Given the description of an element on the screen output the (x, y) to click on. 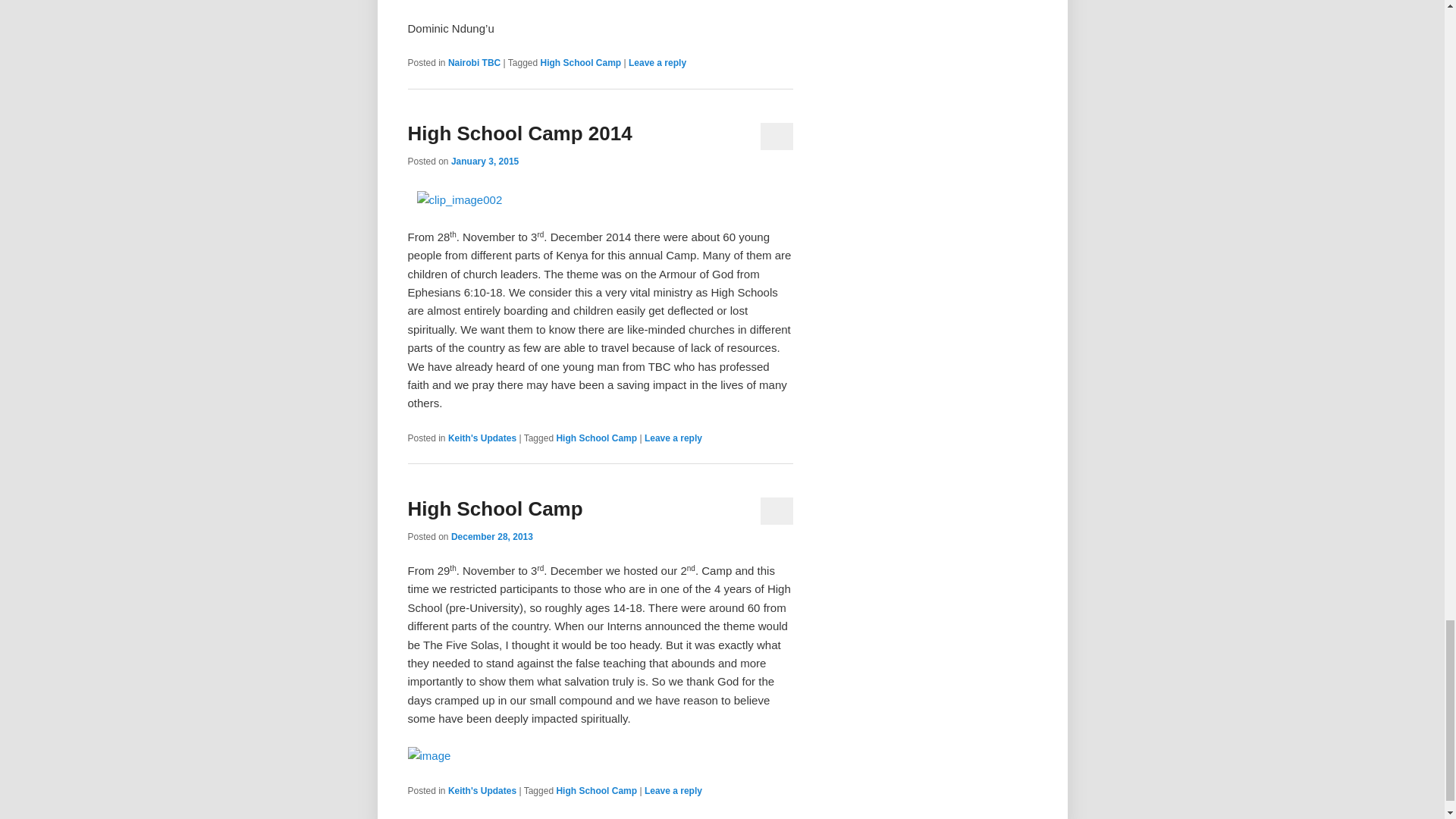
Permalink to High School Camp 2014 (519, 133)
6:39 pm (491, 536)
11:42 am (484, 161)
image (429, 755)
Permalink to High School Camp (495, 508)
